Given the description of an element on the screen output the (x, y) to click on. 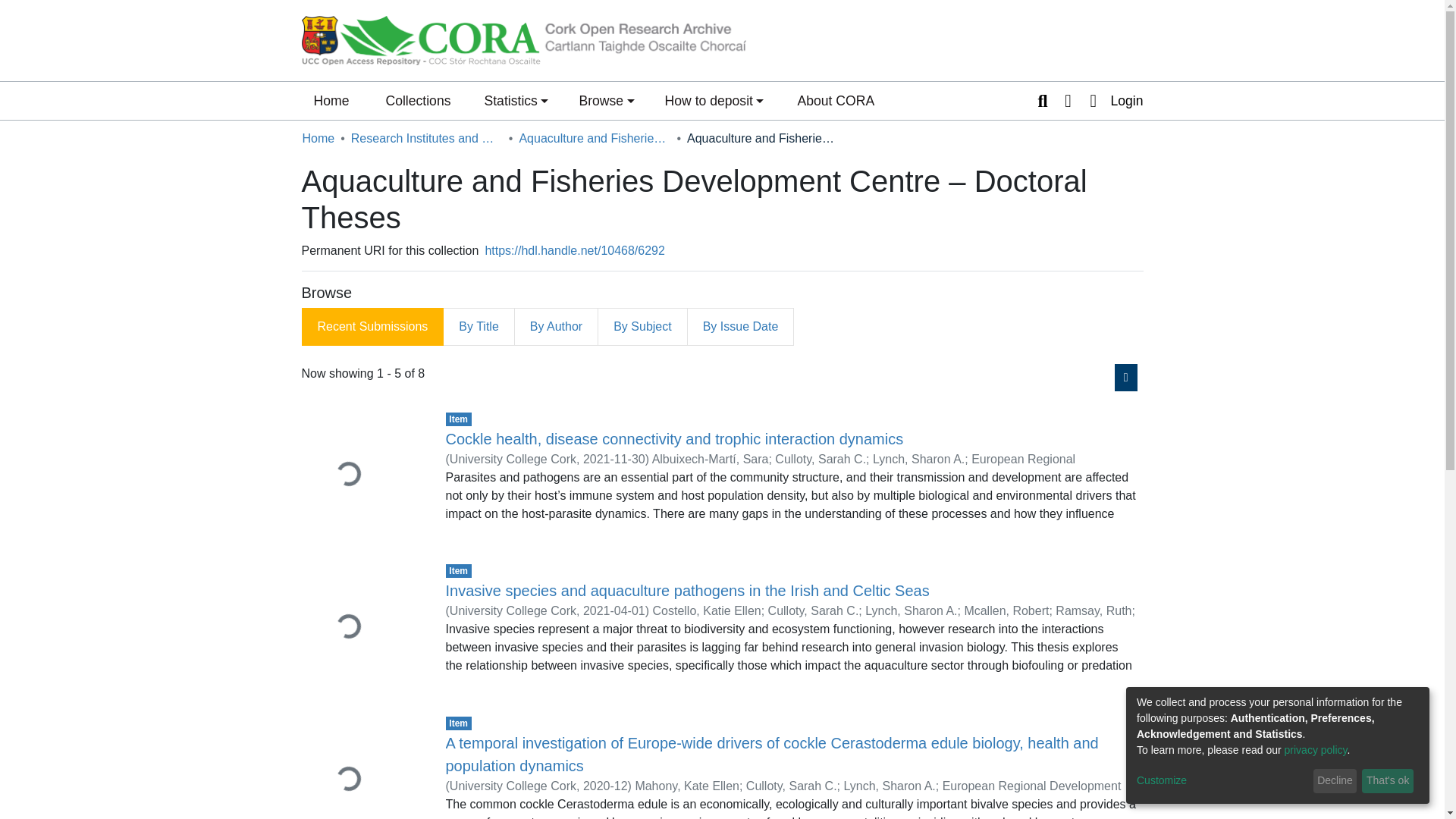
By Title (478, 326)
Home (331, 100)
By Subject (642, 326)
Statistics (515, 100)
Home (317, 138)
About CORA (835, 100)
Loading... (362, 628)
Home (331, 100)
